Given the description of an element on the screen output the (x, y) to click on. 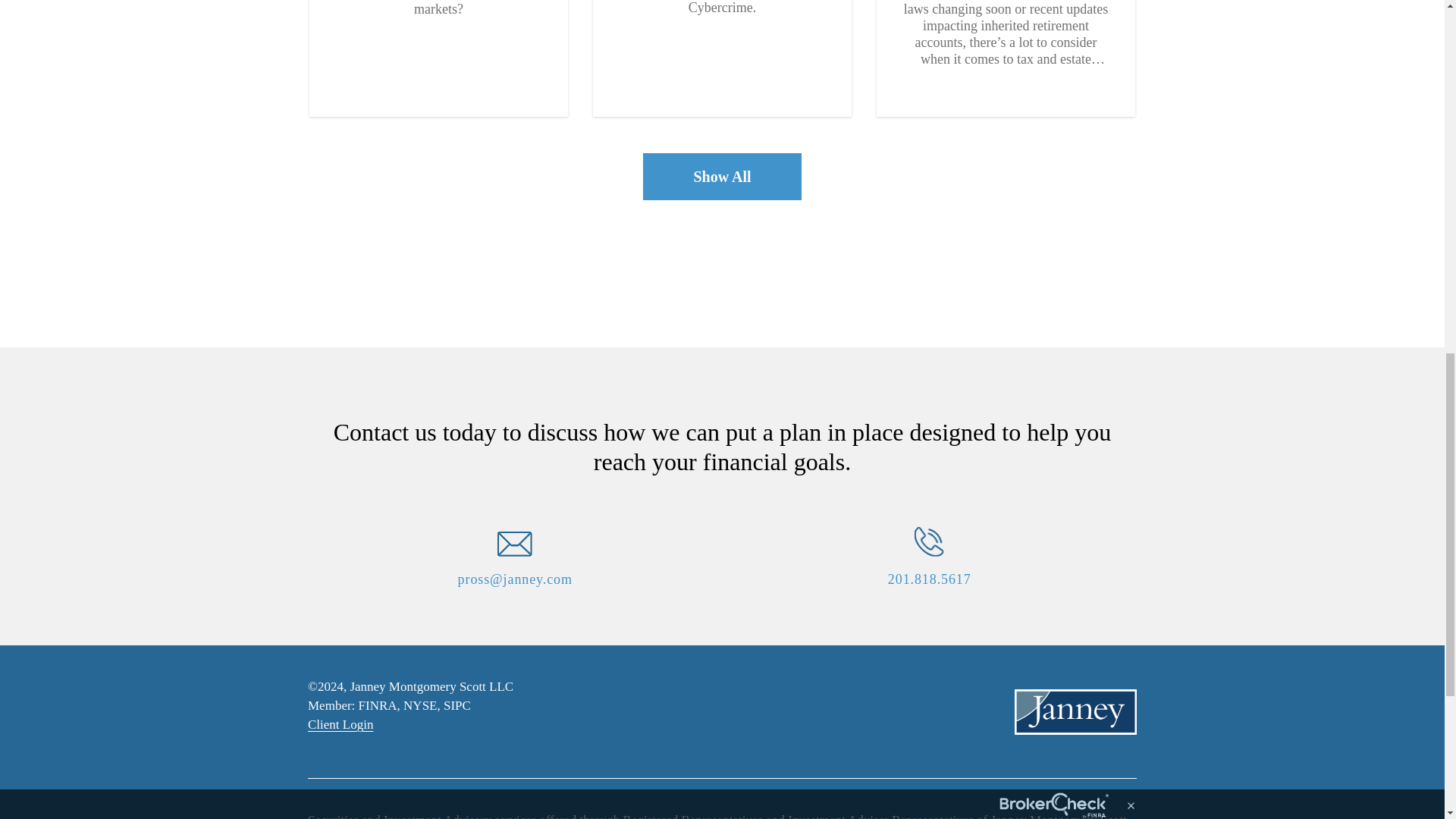
NYSE (419, 705)
SIPC (457, 705)
phone-img (928, 541)
Show All (721, 176)
FINRA (377, 705)
201.818.5617 (929, 579)
janney-logo-img (1075, 710)
Show All (721, 177)
email-img (514, 543)
Client Login (339, 724)
